Given the description of an element on the screen output the (x, y) to click on. 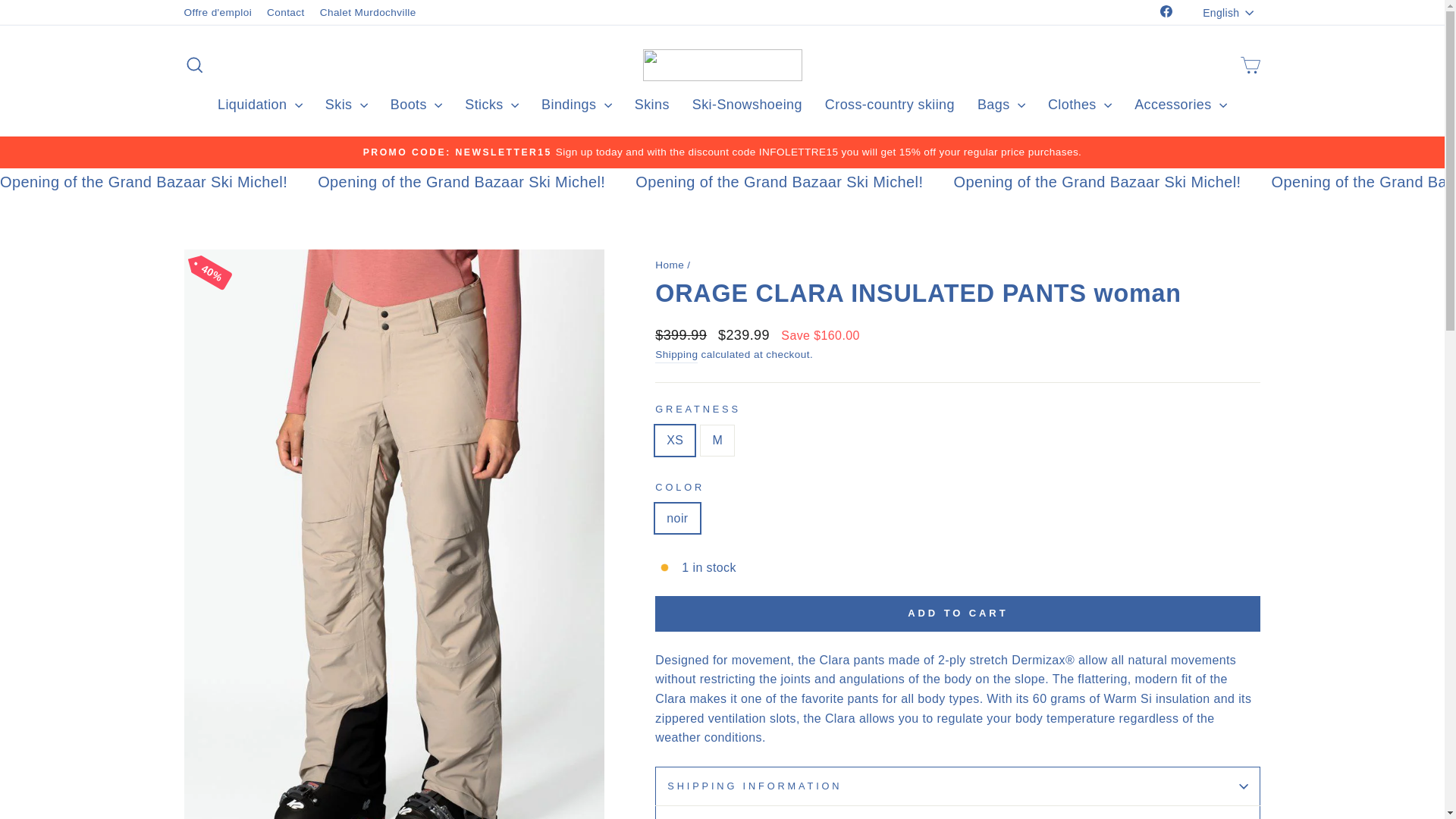
Back to the frontpage (669, 265)
icon-search (194, 65)
